Given the description of an element on the screen output the (x, y) to click on. 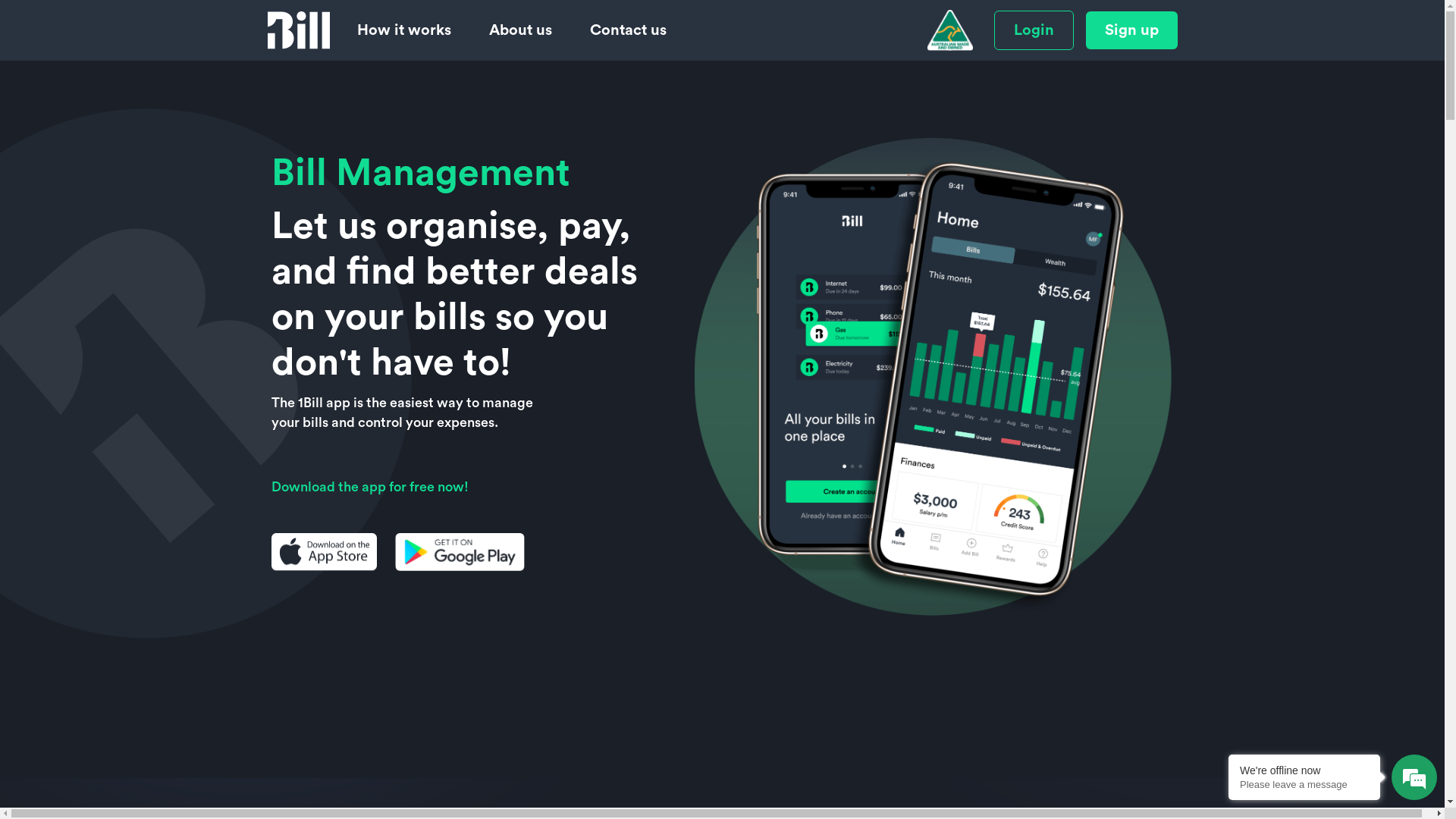
Contact us Element type: text (627, 30)
About us Element type: text (519, 30)
Sign up Element type: text (1131, 30)
How it works Element type: text (403, 30)
Login Element type: text (1033, 30)
